Given the description of an element on the screen output the (x, y) to click on. 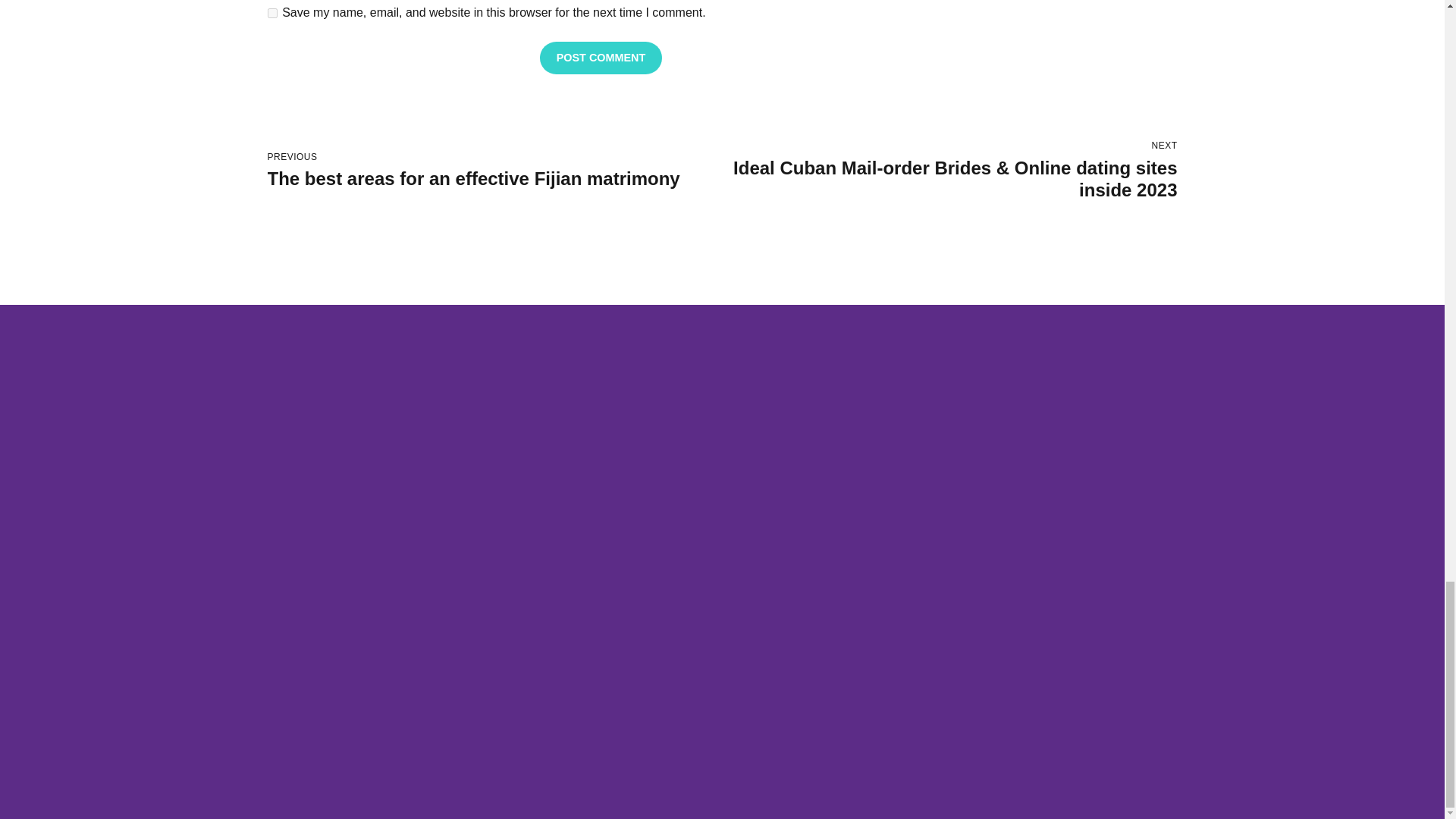
yes (271, 13)
POST COMMENT (494, 171)
